Given the description of an element on the screen output the (x, y) to click on. 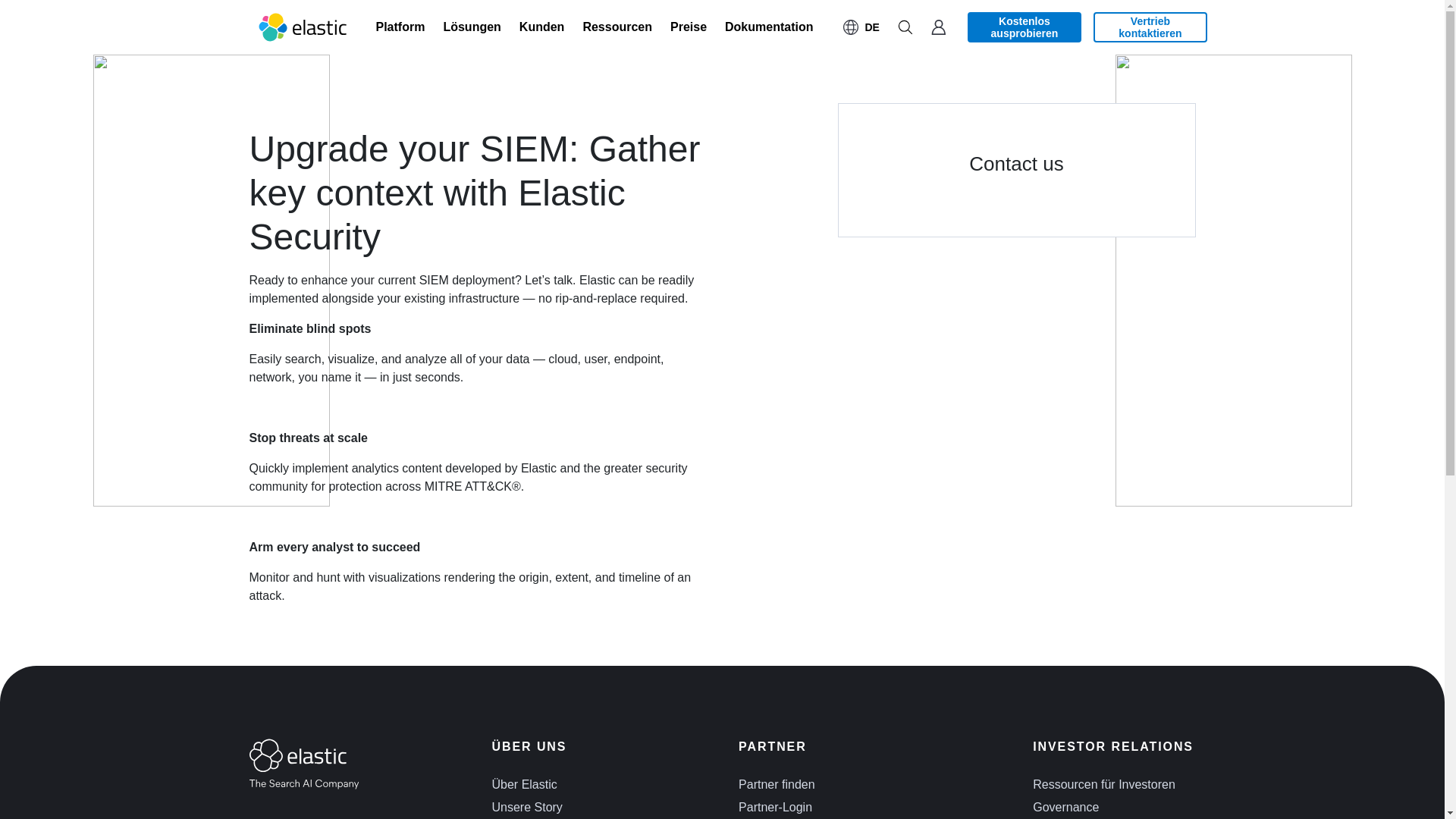
Login (938, 27)
DE (861, 27)
Elastic (303, 27)
Vertrieb kontaktieren (1150, 27)
Kostenlos ausprobieren (1024, 27)
Search (904, 27)
Platform (399, 27)
